Given the description of an element on the screen output the (x, y) to click on. 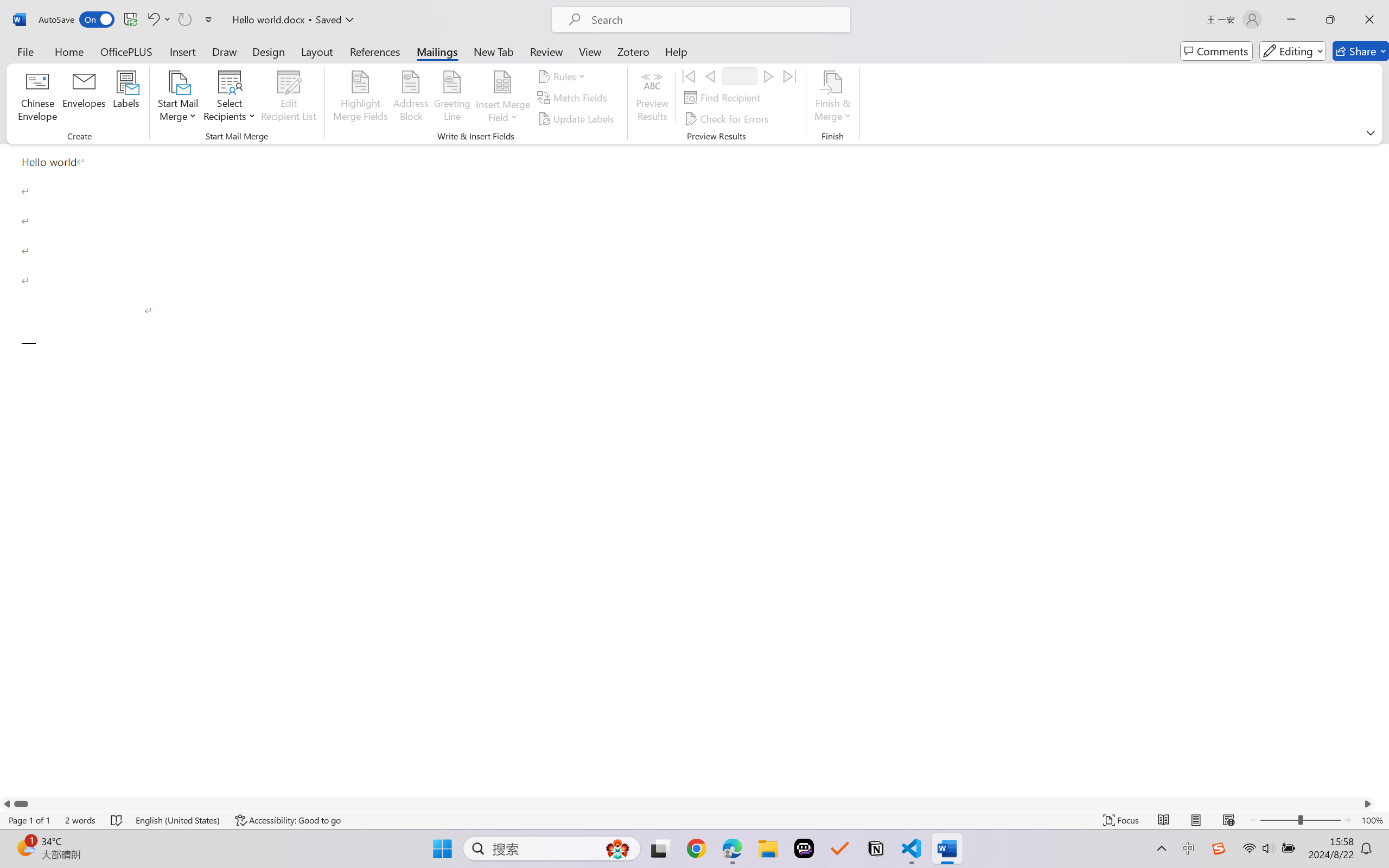
Labels... (126, 97)
Zoom Out (1278, 819)
Close (1369, 19)
Comments (1216, 50)
Can't Repeat (184, 19)
Ribbon Display Options (1370, 132)
Zoom (1300, 819)
Minimize (1291, 19)
Mailings (437, 51)
Restore Down (1330, 19)
Page right (694, 803)
Previous (709, 75)
Customize Quick Access Toolbar (208, 19)
Spelling and Grammar Check No Errors (117, 819)
